Given the description of an element on the screen output the (x, y) to click on. 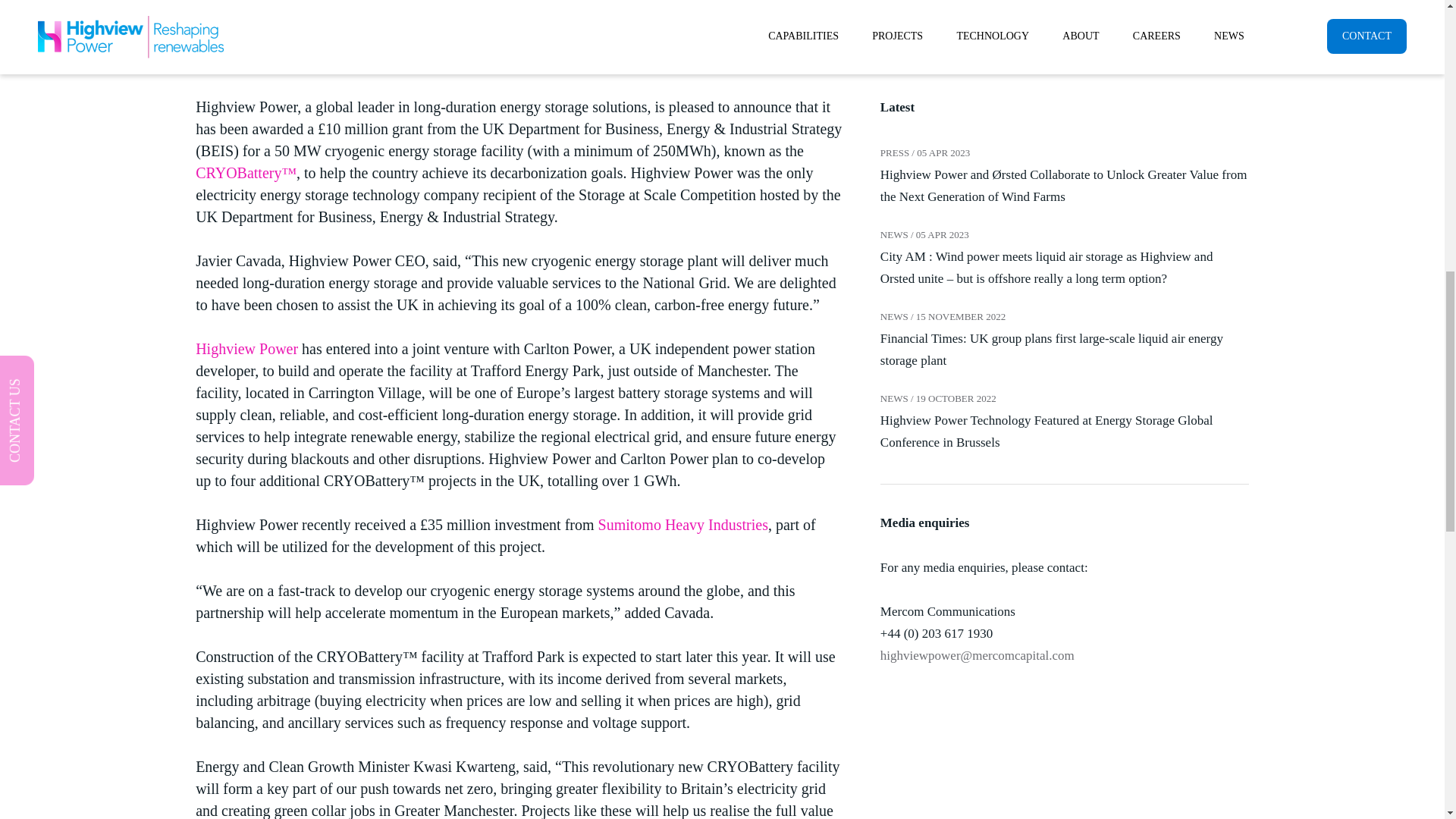
Sumitomo Heavy Industries (683, 524)
Highview Power (246, 348)
